Given the description of an element on the screen output the (x, y) to click on. 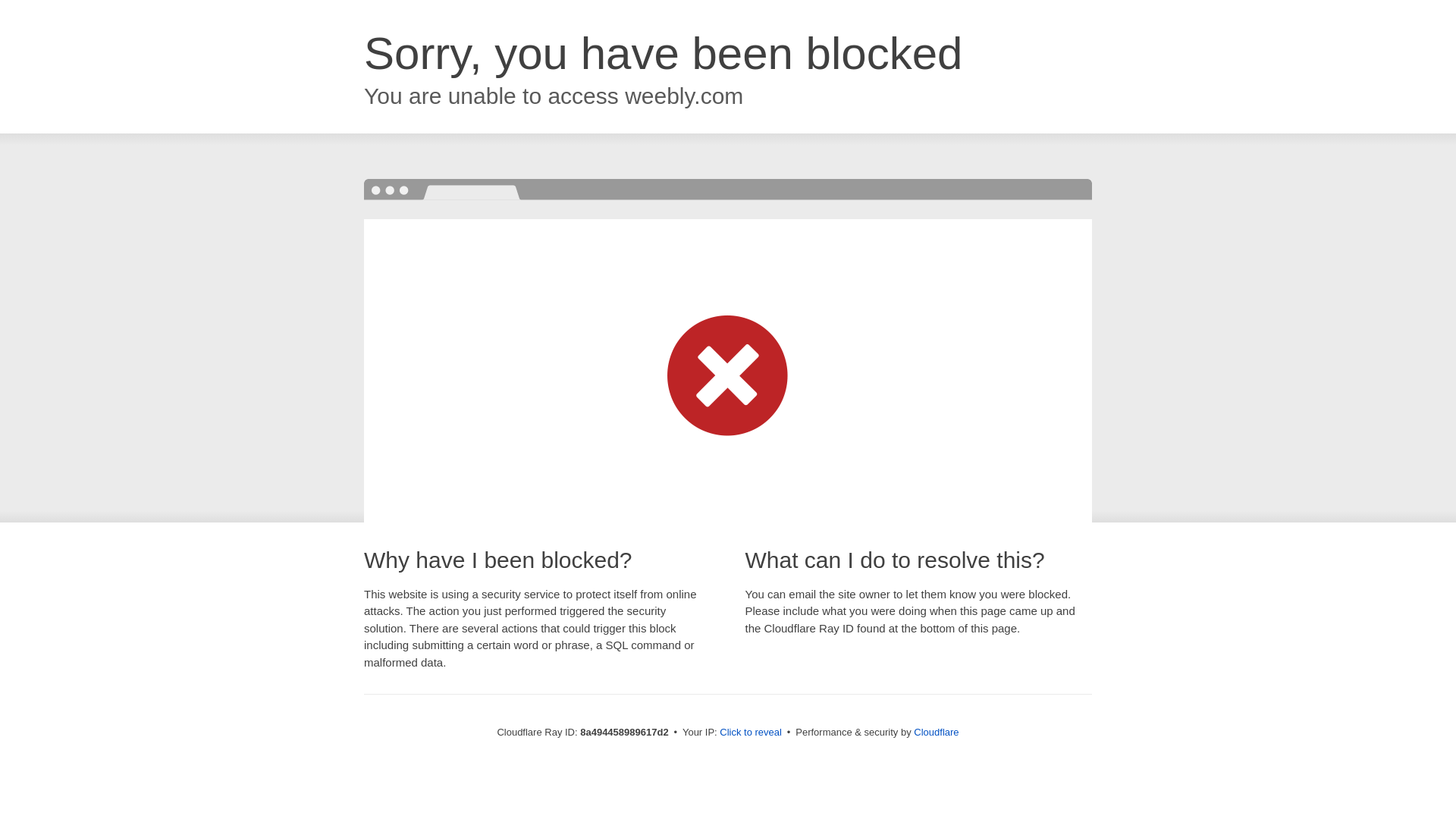
Cloudflare (936, 731)
Click to reveal (750, 732)
